Given the description of an element on the screen output the (x, y) to click on. 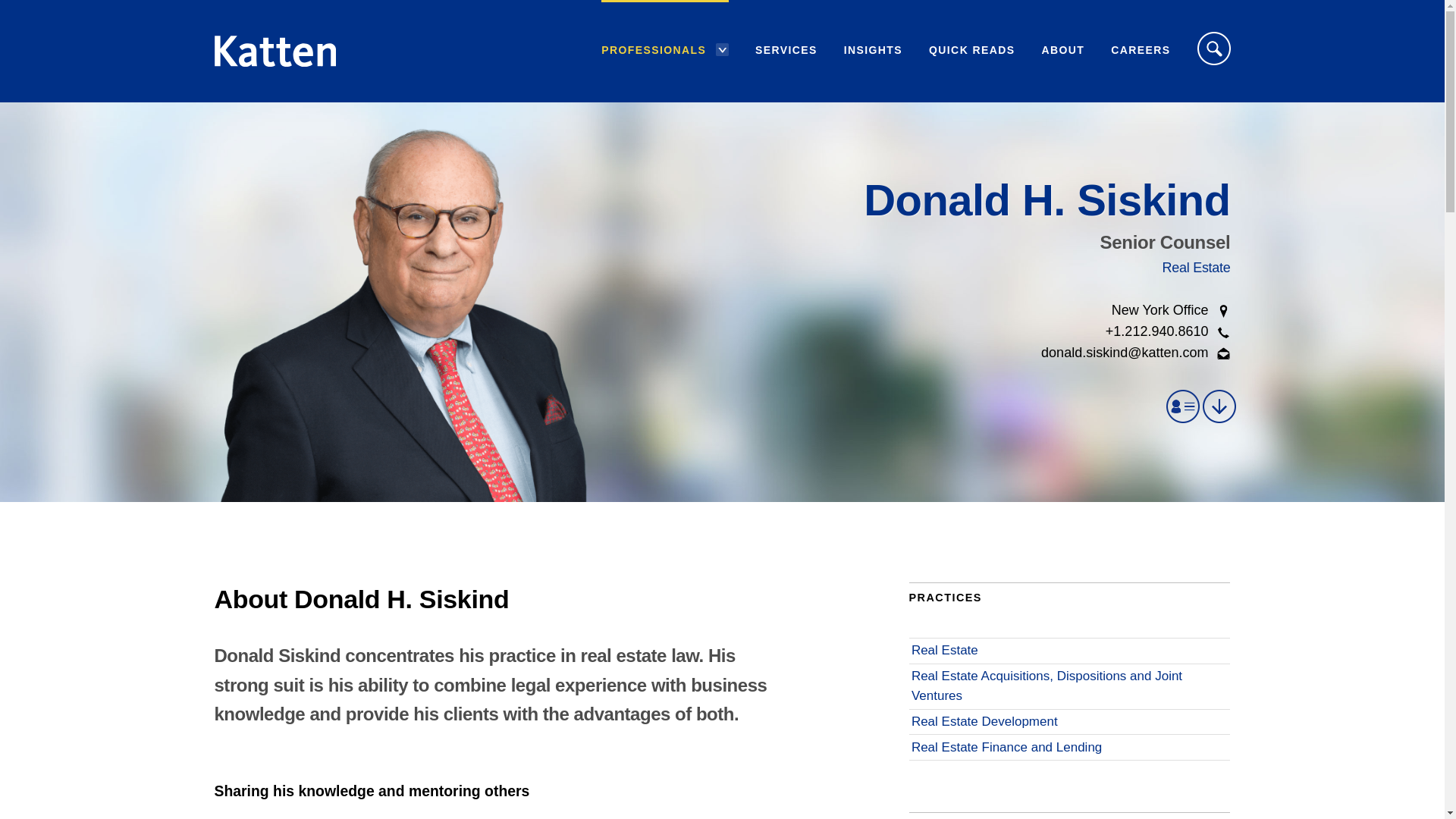
QUICK READS (971, 50)
ABOUT (1062, 50)
PROFESSIONALS (653, 50)
INSIGHTS (873, 50)
CAREERS (1140, 50)
SERVICES (785, 50)
